Given the description of an element on the screen output the (x, y) to click on. 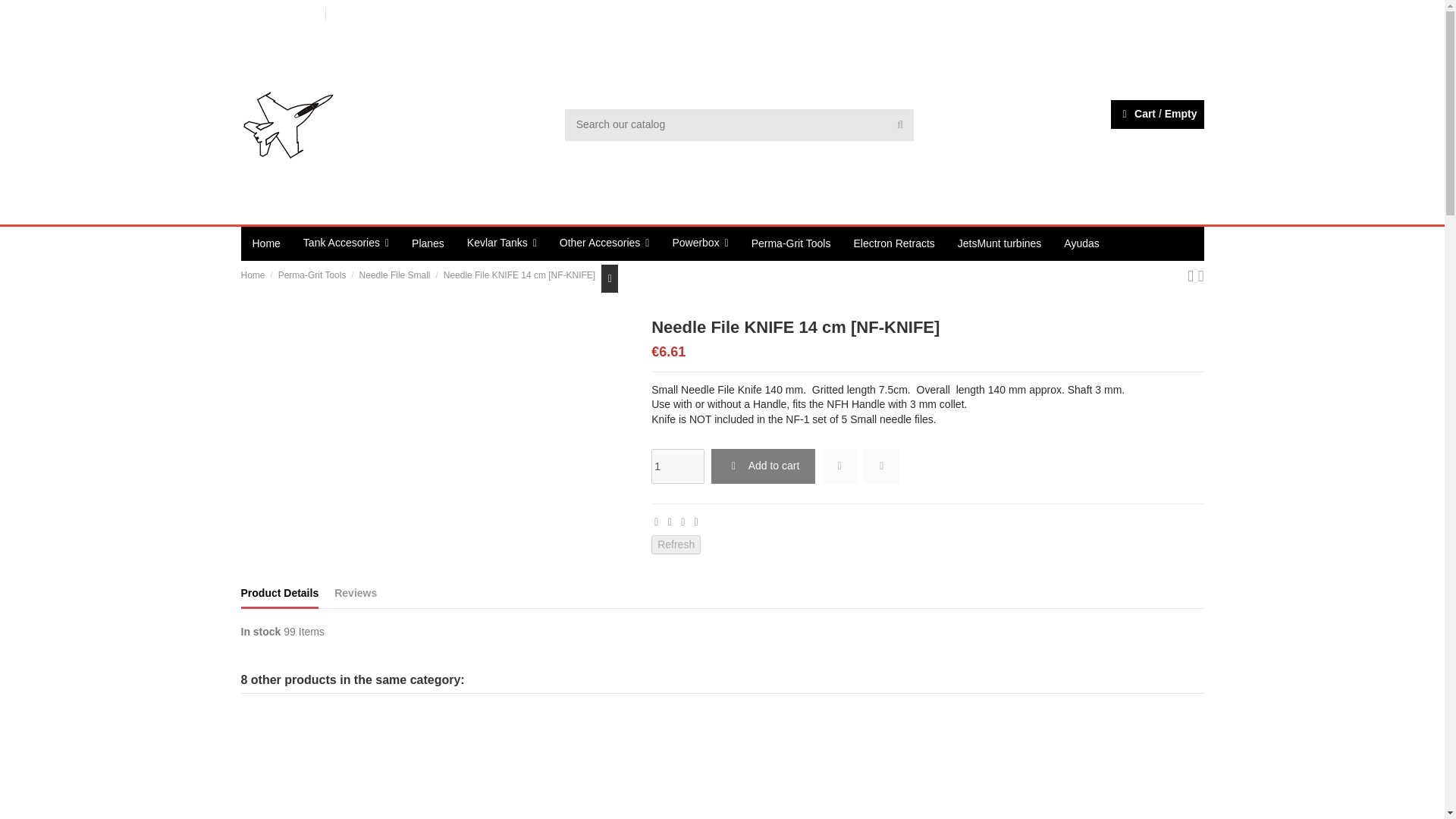
Refresh (675, 545)
Other Accesories (604, 243)
Tank Accesories (346, 243)
Sign in (1182, 141)
Planes (427, 243)
Add to compare (881, 466)
Log in to your customer account (1182, 141)
1 (677, 466)
Kevlar Tanks (501, 243)
My account (1180, 12)
Add to wishlist (839, 466)
Home (266, 243)
